Given the description of an element on the screen output the (x, y) to click on. 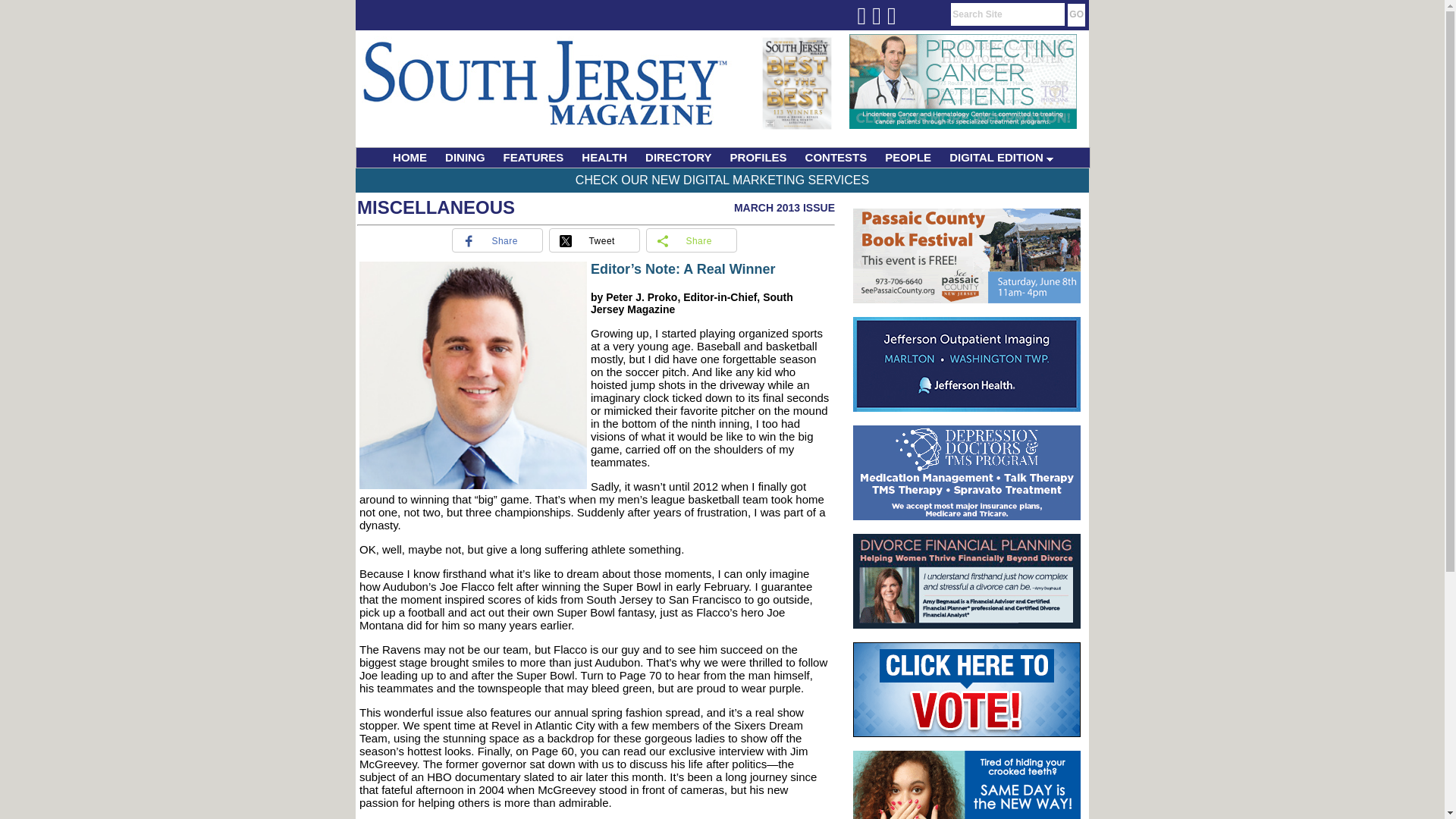
DIRECTORY (678, 157)
CONTESTS (836, 157)
DINING (465, 157)
HEALTH (603, 157)
PEOPLE (908, 157)
MARCH 2013 ISSUE (783, 207)
FEATURES (534, 157)
CHECK OUR NEW DIGITAL MARKETING SERVICES (722, 179)
PROFILES (758, 157)
Search Site (1007, 14)
HOME (409, 157)
MISCELLANEOUS (435, 207)
DIGITAL EDITION (1001, 157)
